Given the description of an element on the screen output the (x, y) to click on. 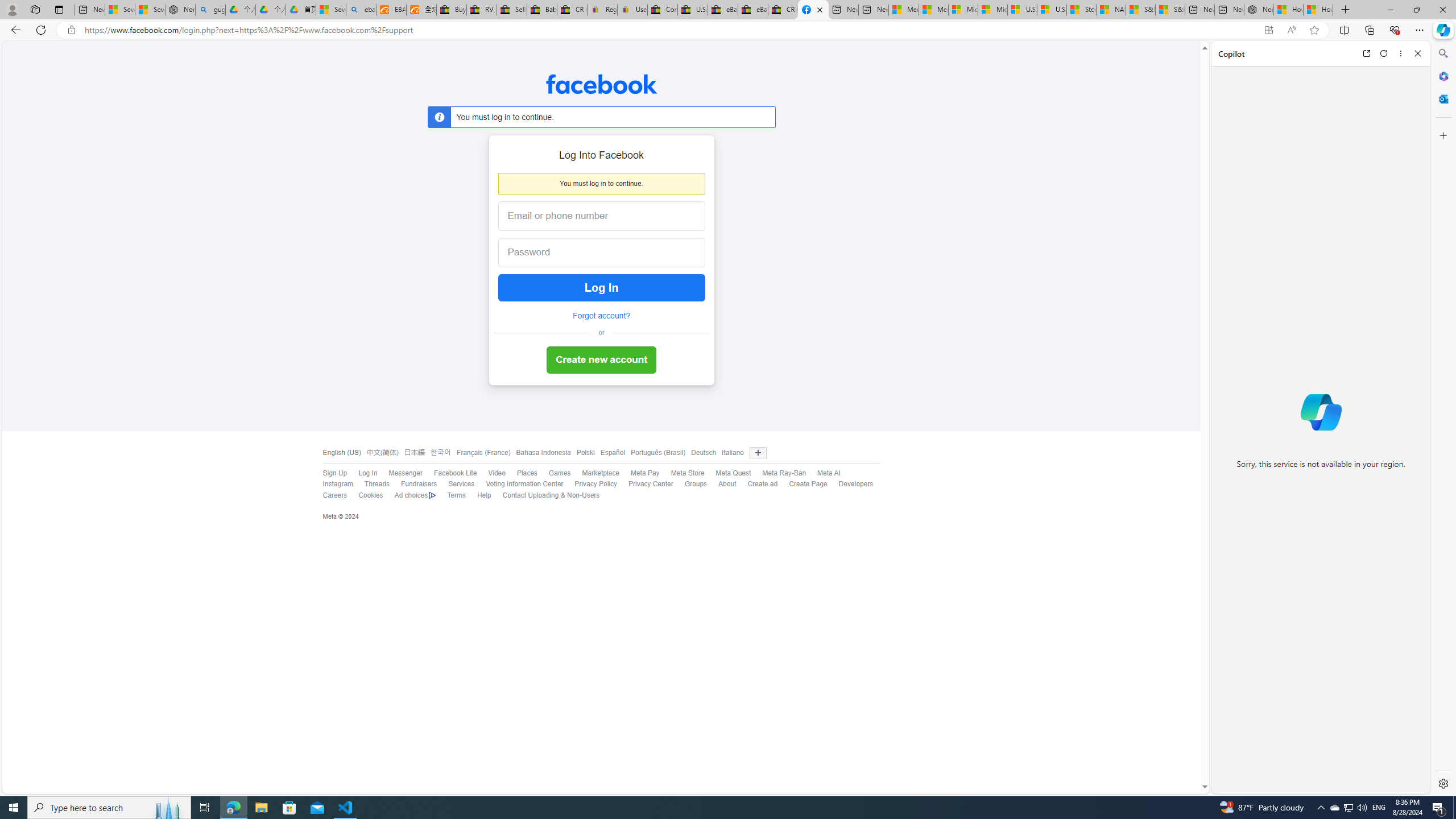
Careers (329, 495)
RV, Trailer & Camper Steps & Ladders for sale | eBay (481, 9)
Voting Information Center (524, 483)
Italiano (733, 452)
Meta Store (687, 473)
Games (553, 473)
Games (559, 473)
Polski (585, 452)
